Given the description of an element on the screen output the (x, y) to click on. 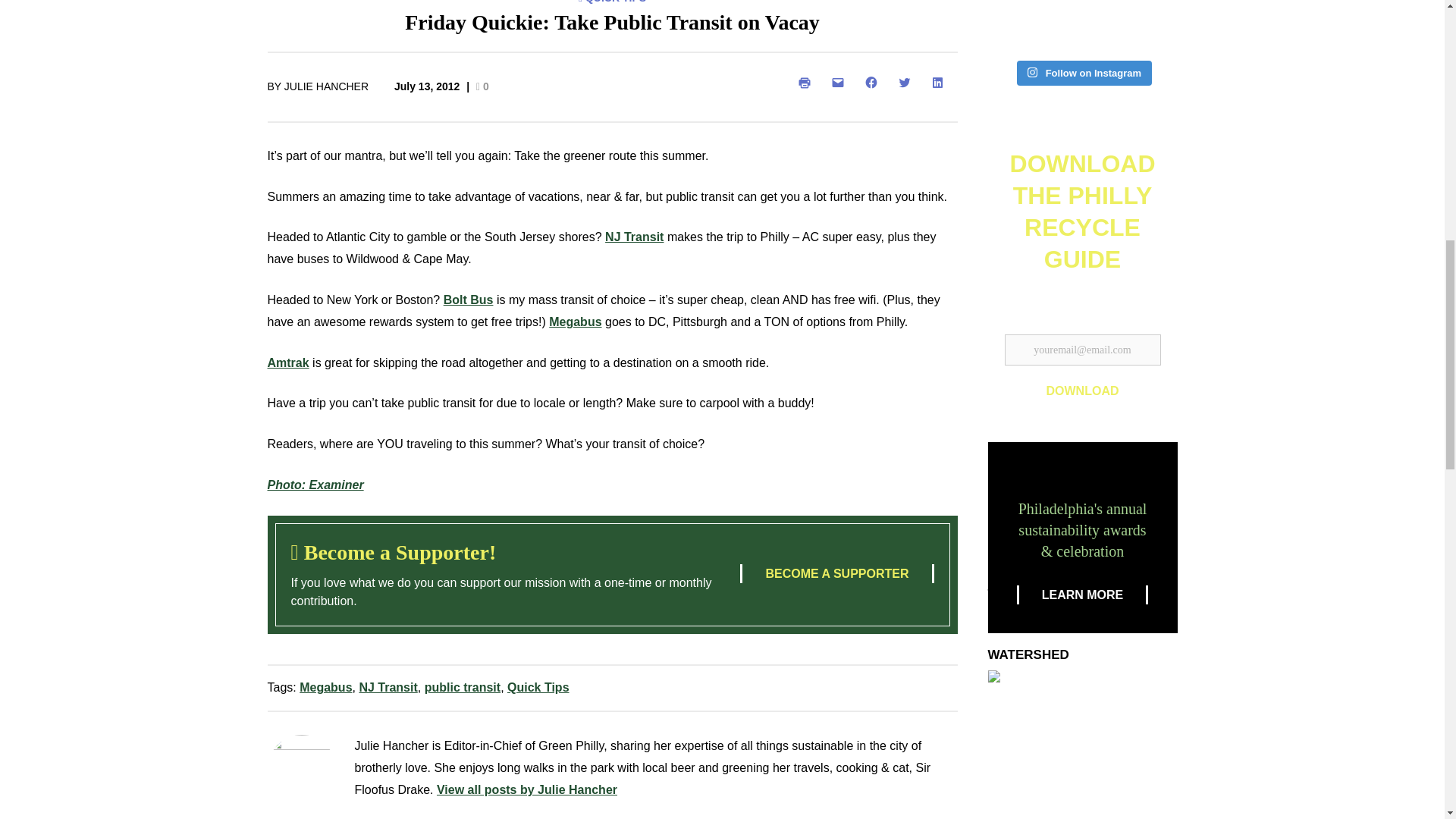
Click to email a link to a friend (840, 82)
Click to share on Facebook (873, 82)
Click to share on Twitter (906, 82)
download (1081, 390)
Click to share on LinkedIn (939, 82)
Click to print (807, 82)
